Given the description of an element on the screen output the (x, y) to click on. 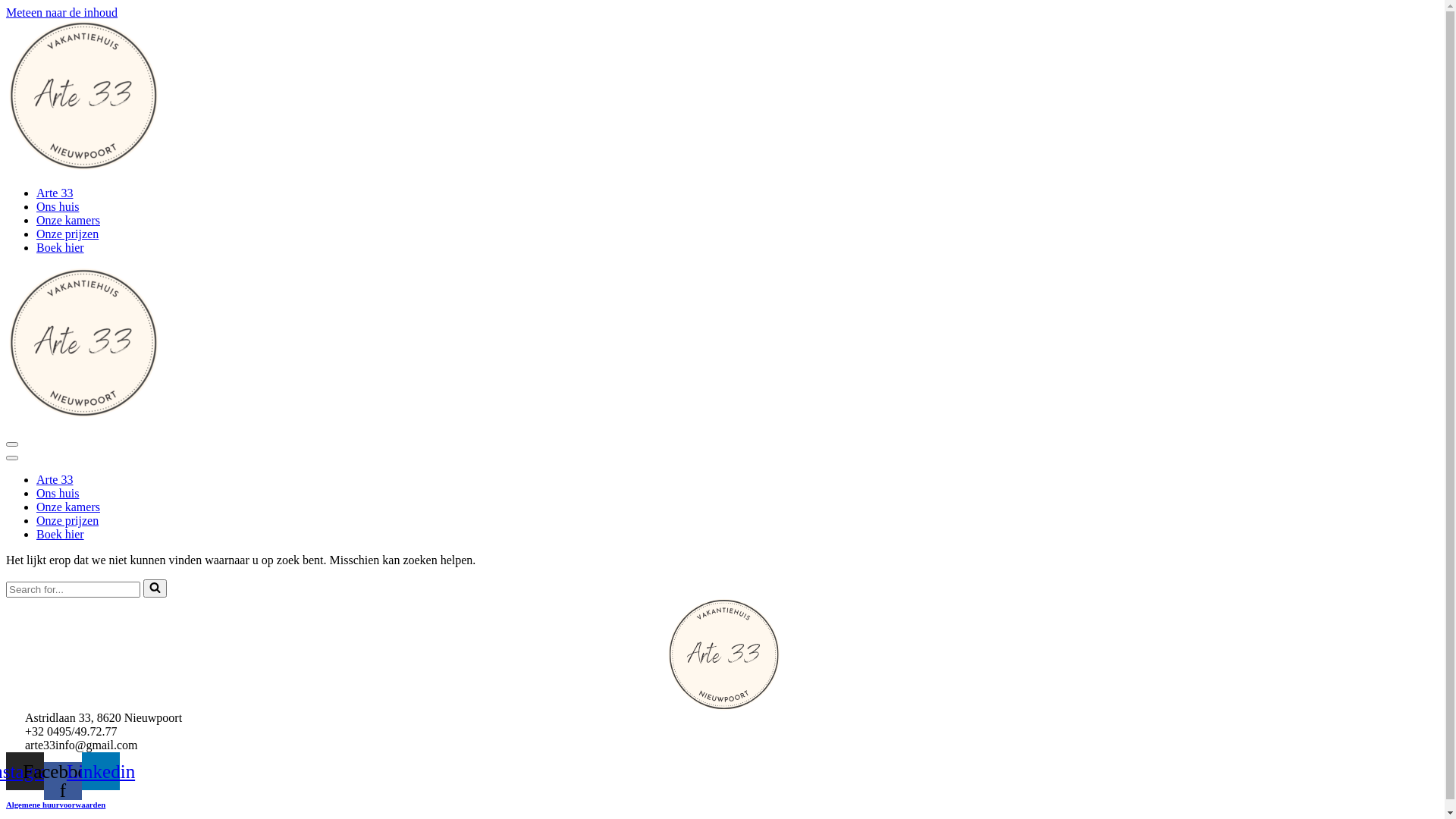
Onze kamers Element type: text (68, 219)
Meteen naar de inhoud Element type: text (61, 12)
Boek hier Element type: text (60, 247)
Onze prijzen Element type: text (67, 233)
Ons huis Element type: text (57, 492)
Navigatie Menu Element type: text (12, 457)
Algemene huurvoorwaarden Element type: text (55, 803)
Ons huis Element type: text (57, 206)
Facebook-f Element type: text (62, 780)
Instagram Element type: text (24, 771)
Arte 33 Element type: text (54, 479)
Onze prijzen Element type: text (67, 520)
Linkedin Element type: text (100, 771)
Navigatie Menu Element type: text (12, 444)
Boek hier Element type: text (60, 533)
Arte 33 Element type: text (54, 192)
Onze kamers Element type: text (68, 506)
